Given the description of an element on the screen output the (x, y) to click on. 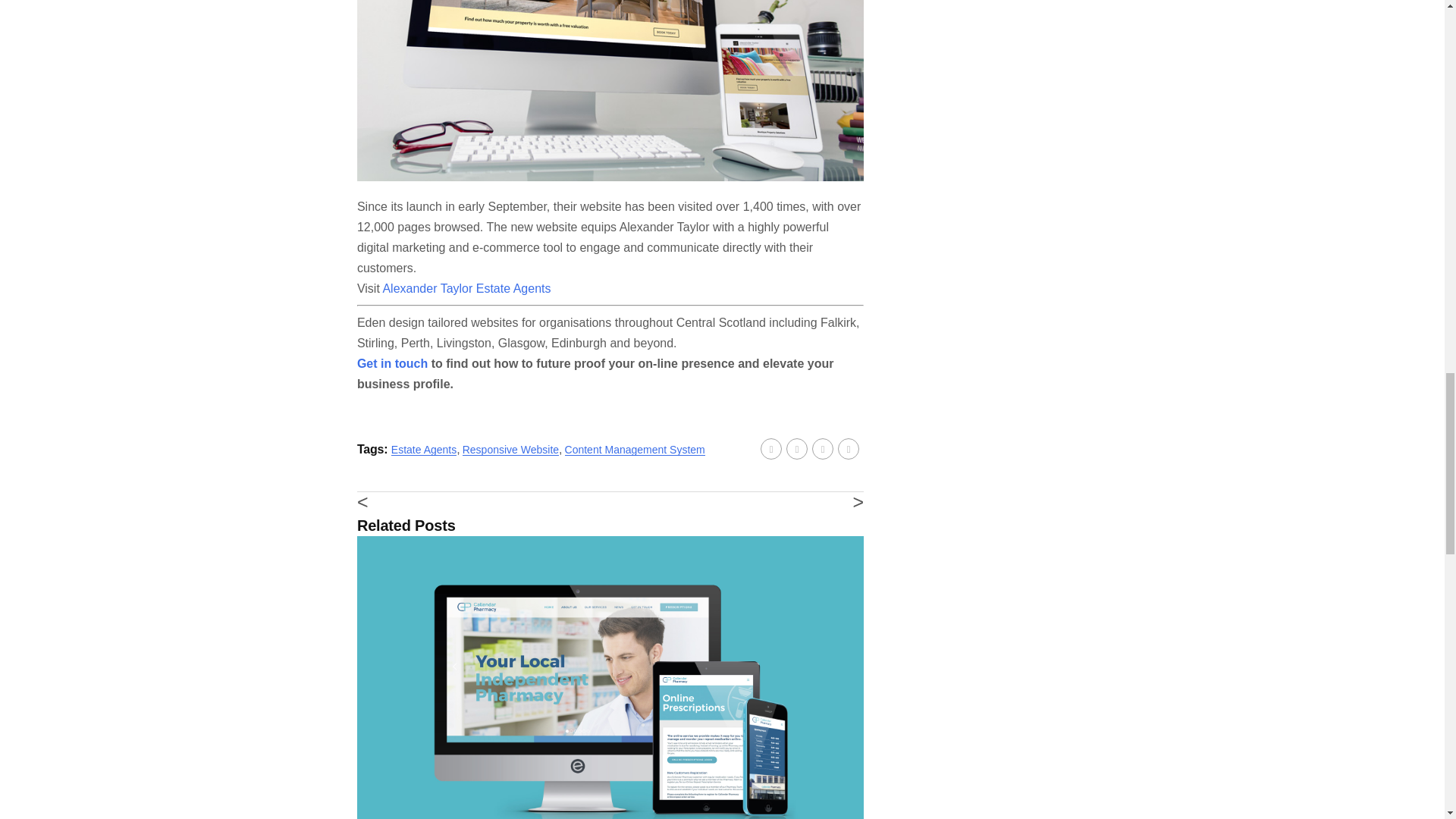
Estate Agents (424, 449)
Responsive Website (511, 449)
Alexander Taylor Estate Agents (465, 287)
Get in touch (392, 363)
Content Management System (634, 449)
